Given the description of an element on the screen output the (x, y) to click on. 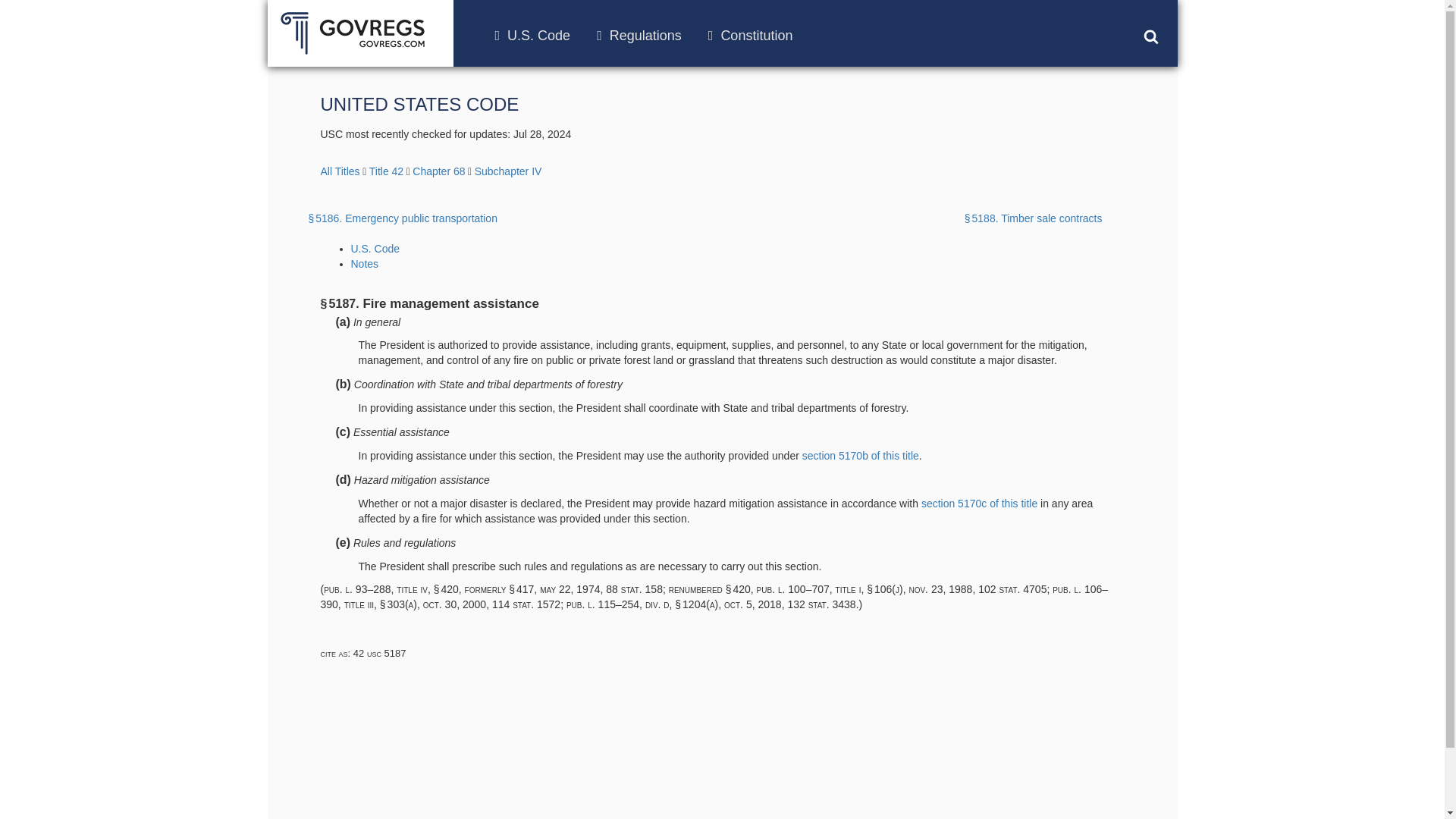
U.S. Code (374, 248)
Title 42 (386, 171)
All Titles (339, 171)
section 5170b of this title (860, 455)
Subchapter IV (507, 171)
section 5170c of this title (978, 503)
Regulations (638, 35)
Constitution (750, 35)
U.S. Code (532, 35)
Chapter 68 (438, 171)
Notes (364, 263)
